Given the description of an element on the screen output the (x, y) to click on. 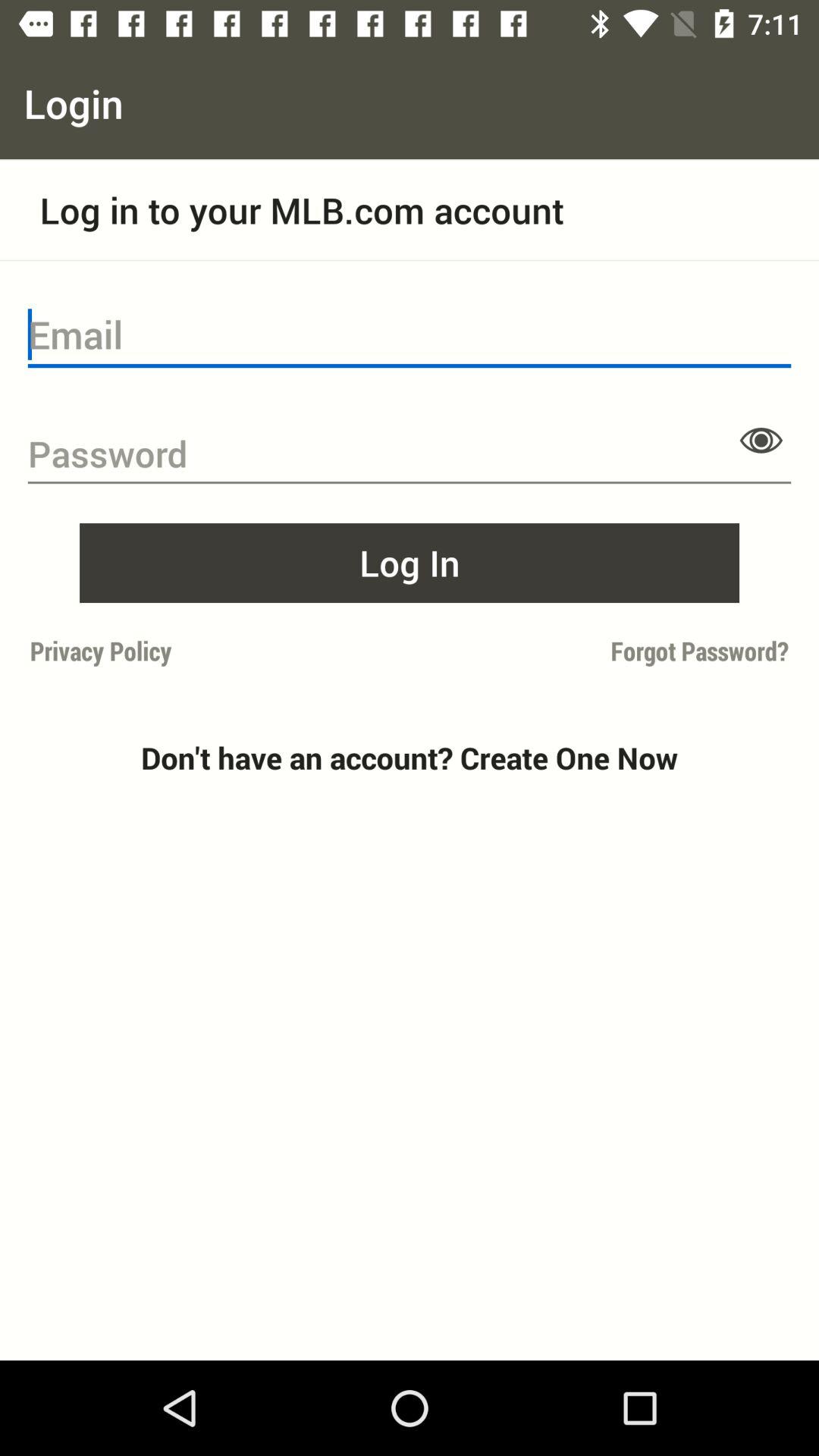
show (761, 440)
